Given the description of an element on the screen output the (x, y) to click on. 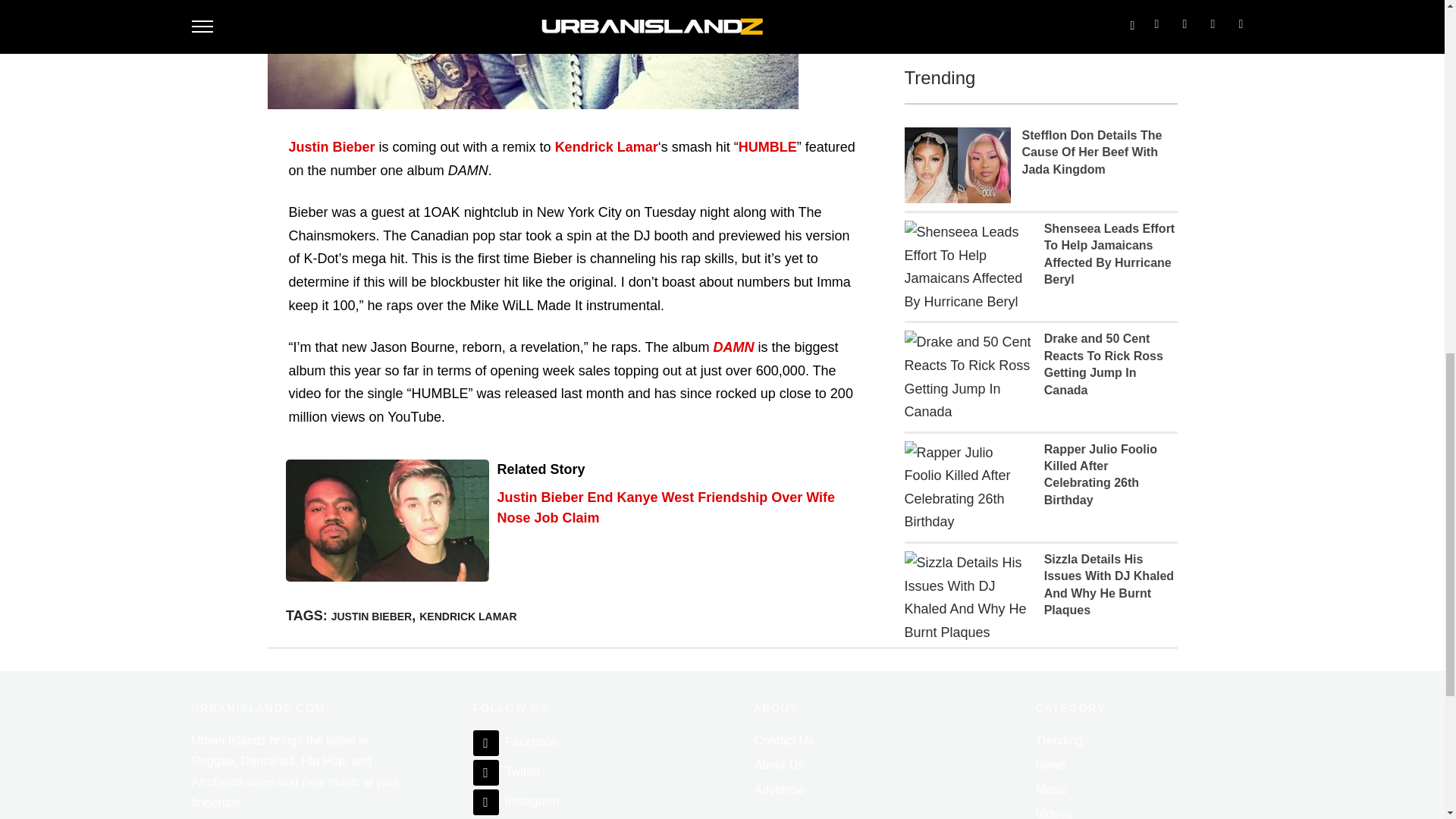
Instagram (516, 800)
Twitter (507, 771)
Facebook (516, 741)
